Given the description of an element on the screen output the (x, y) to click on. 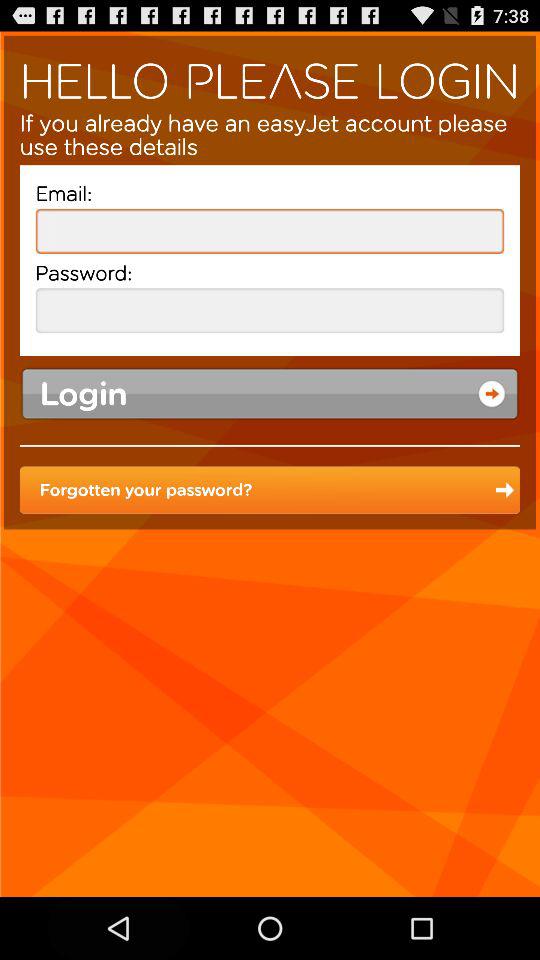
typing space (269, 230)
